Given the description of an element on the screen output the (x, y) to click on. 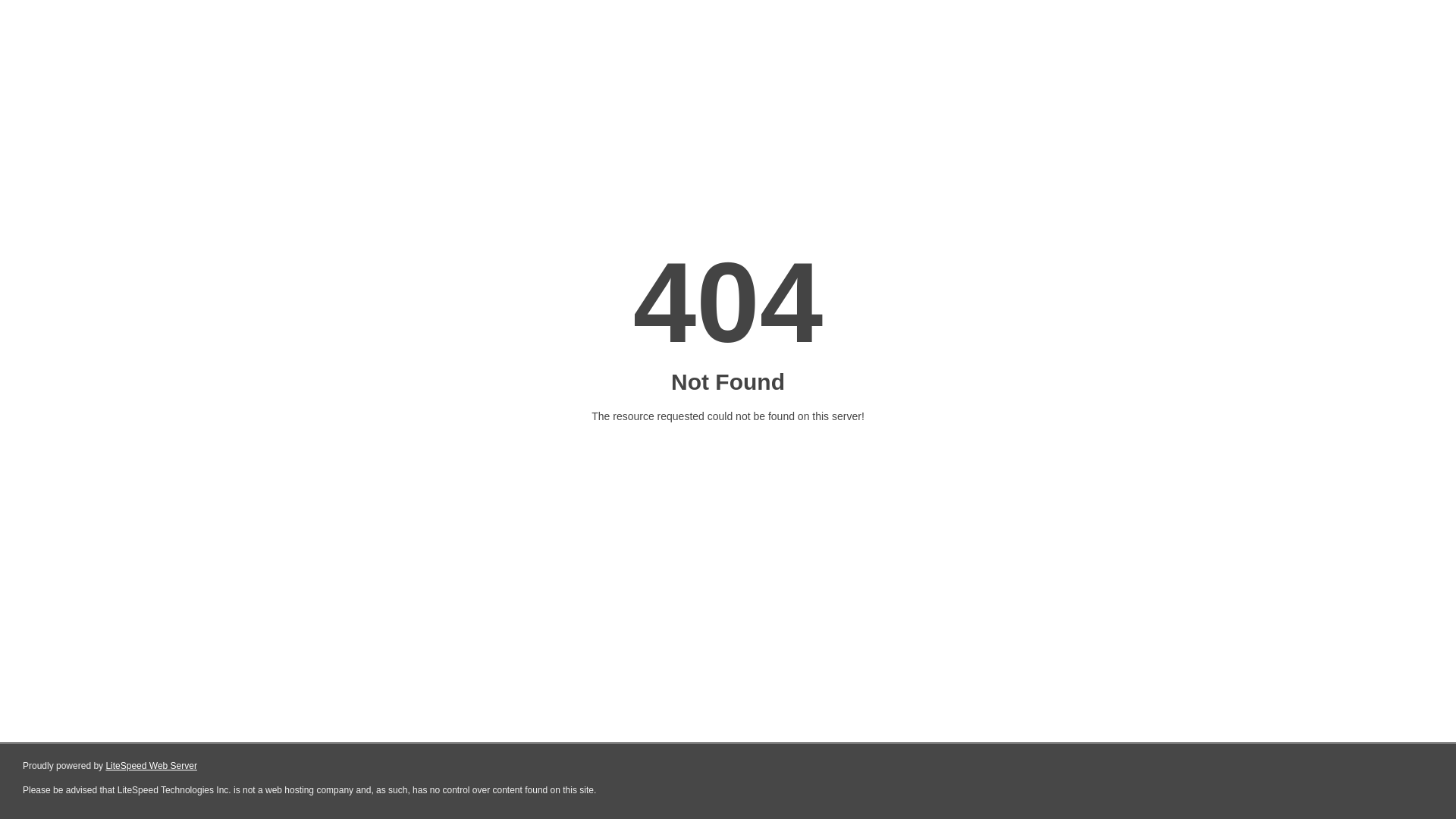
LiteSpeed Web Server Element type: text (151, 765)
